Given the description of an element on the screen output the (x, y) to click on. 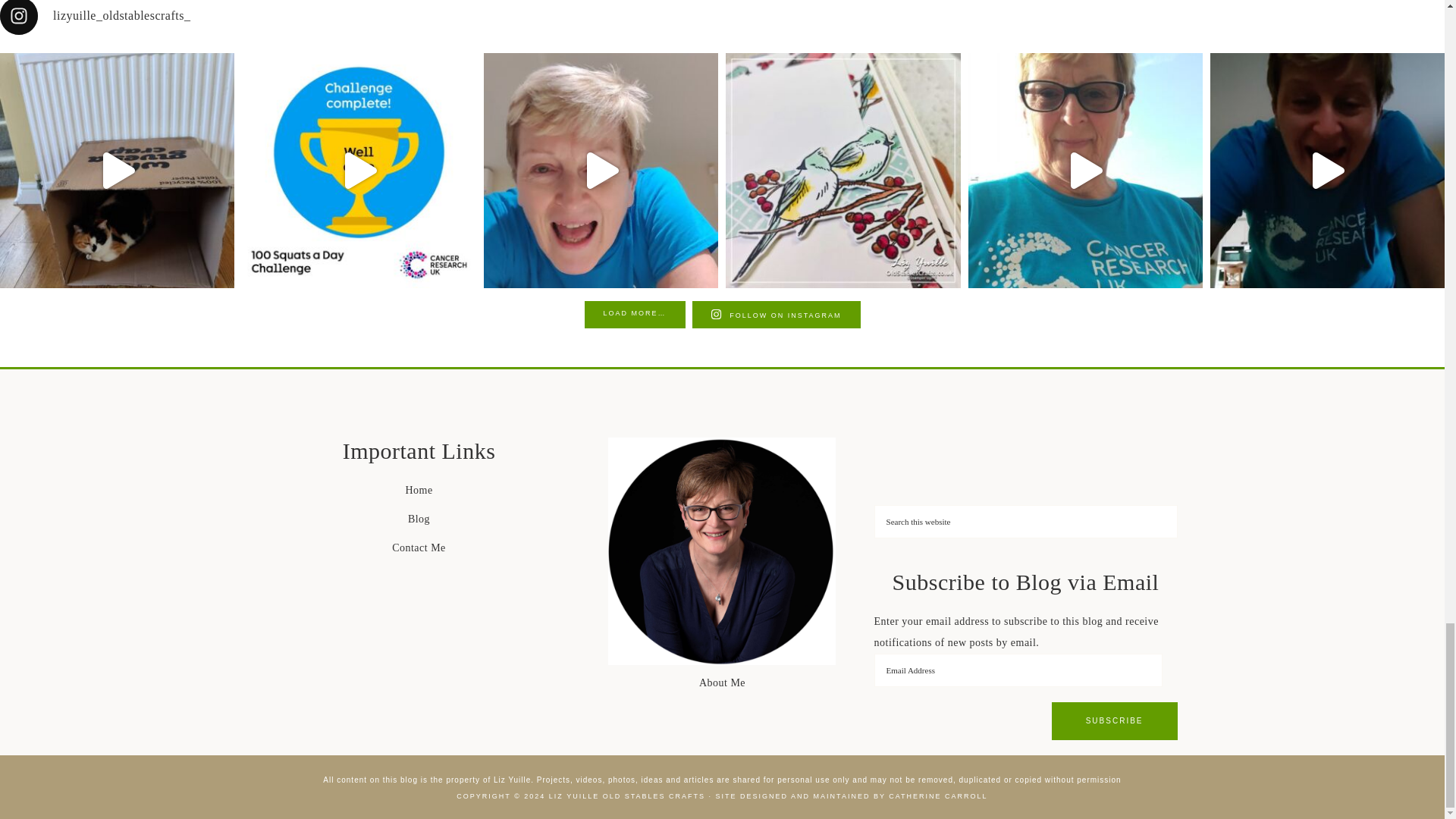
FOLLOW ON INSTAGRAM (776, 314)
